Given the description of an element on the screen output the (x, y) to click on. 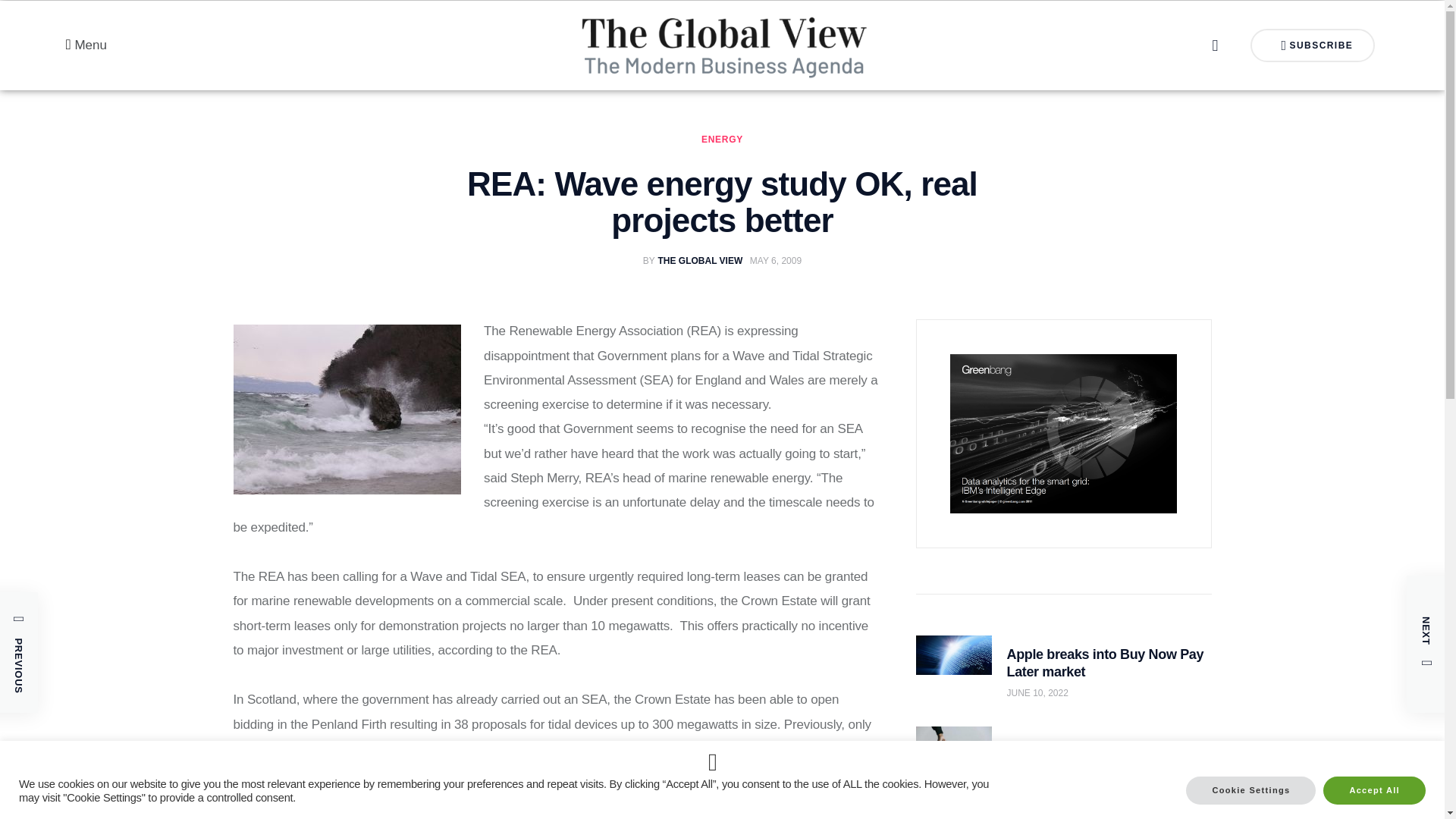
crashing-waves (346, 409)
SUBSCRIBE (1312, 45)
ENERGY (721, 139)
